Given the description of an element on the screen output the (x, y) to click on. 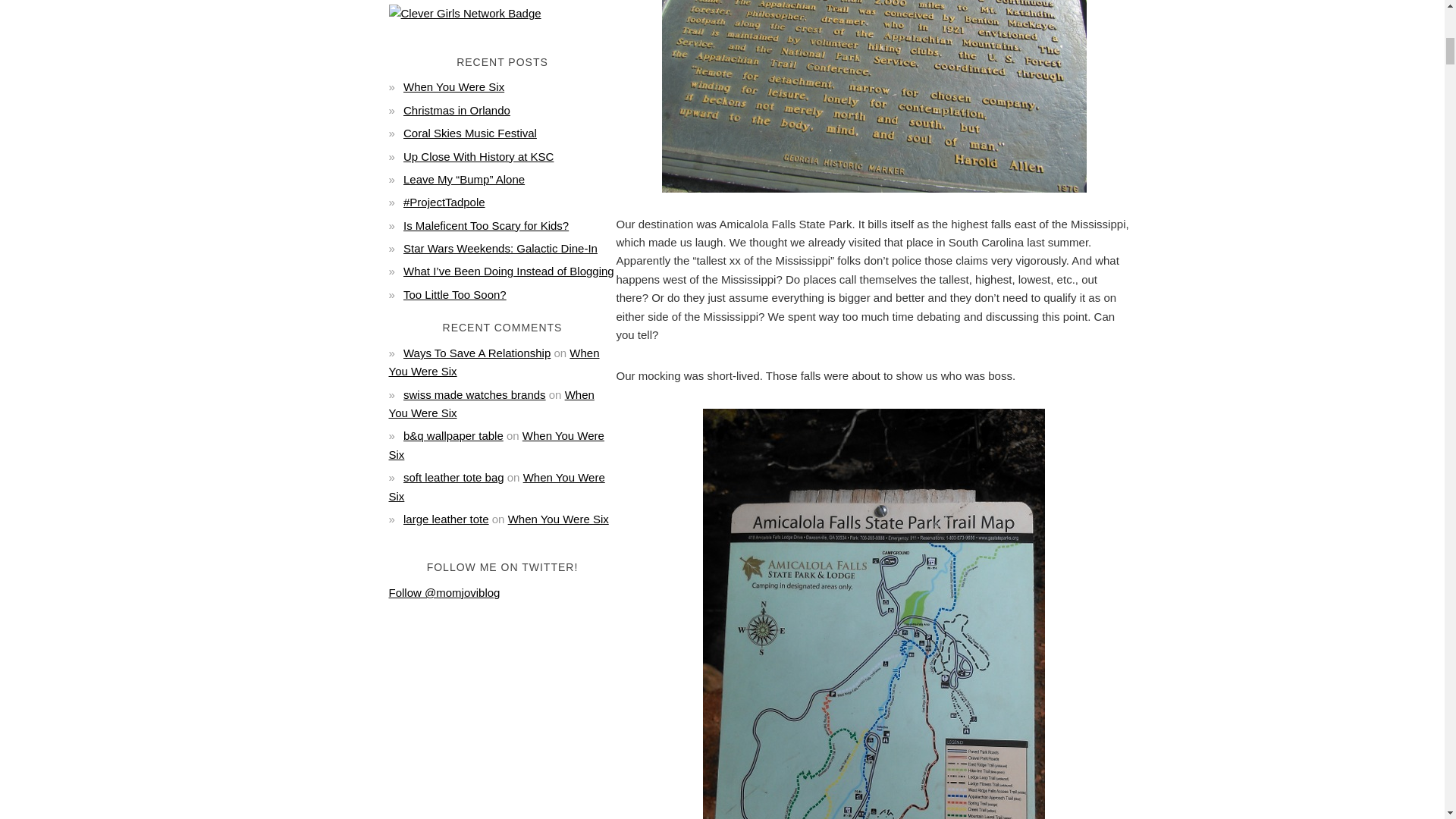
Clever Girls Network Badge (464, 13)
